Given the description of an element on the screen output the (x, y) to click on. 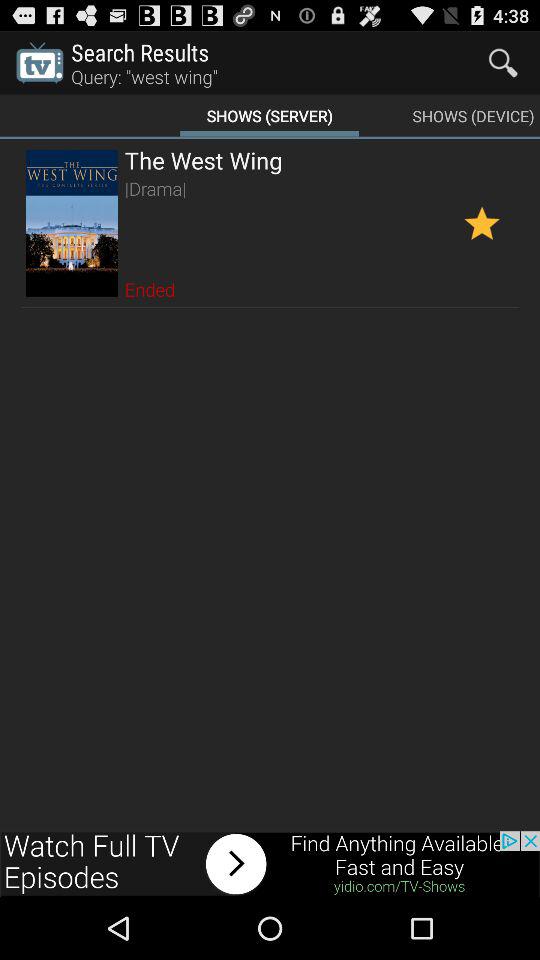
access advertisement (270, 864)
